Given the description of an element on the screen output the (x, y) to click on. 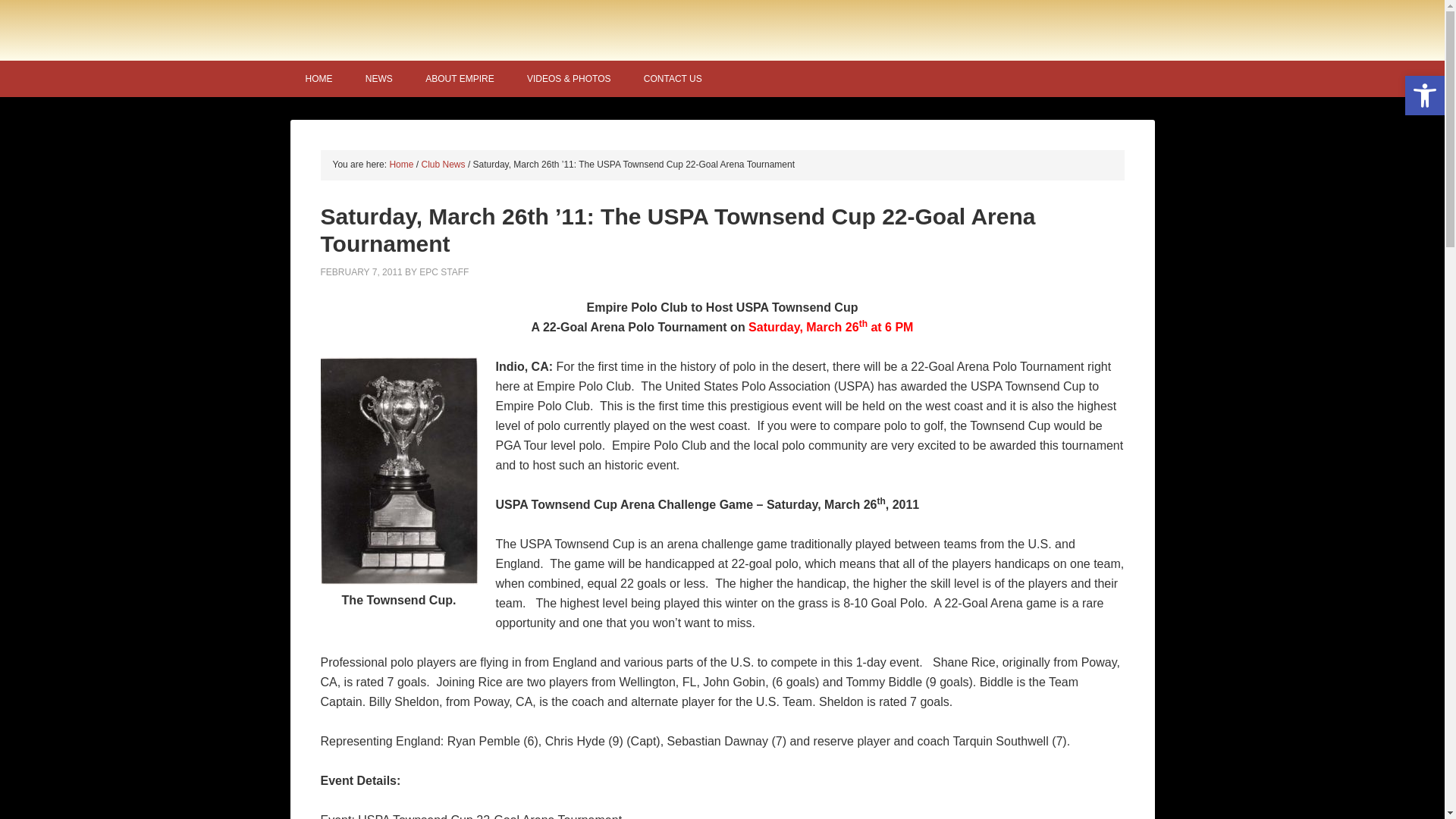
NEWS (378, 78)
ABOUT EMPIRE (459, 78)
EPC STAFF (443, 271)
EMPIRE POLO CLUB (721, 28)
Accessibility Tools (1424, 95)
HOME (318, 78)
Home (400, 163)
Club News (443, 163)
CONTACT US (672, 78)
